Given the description of an element on the screen output the (x, y) to click on. 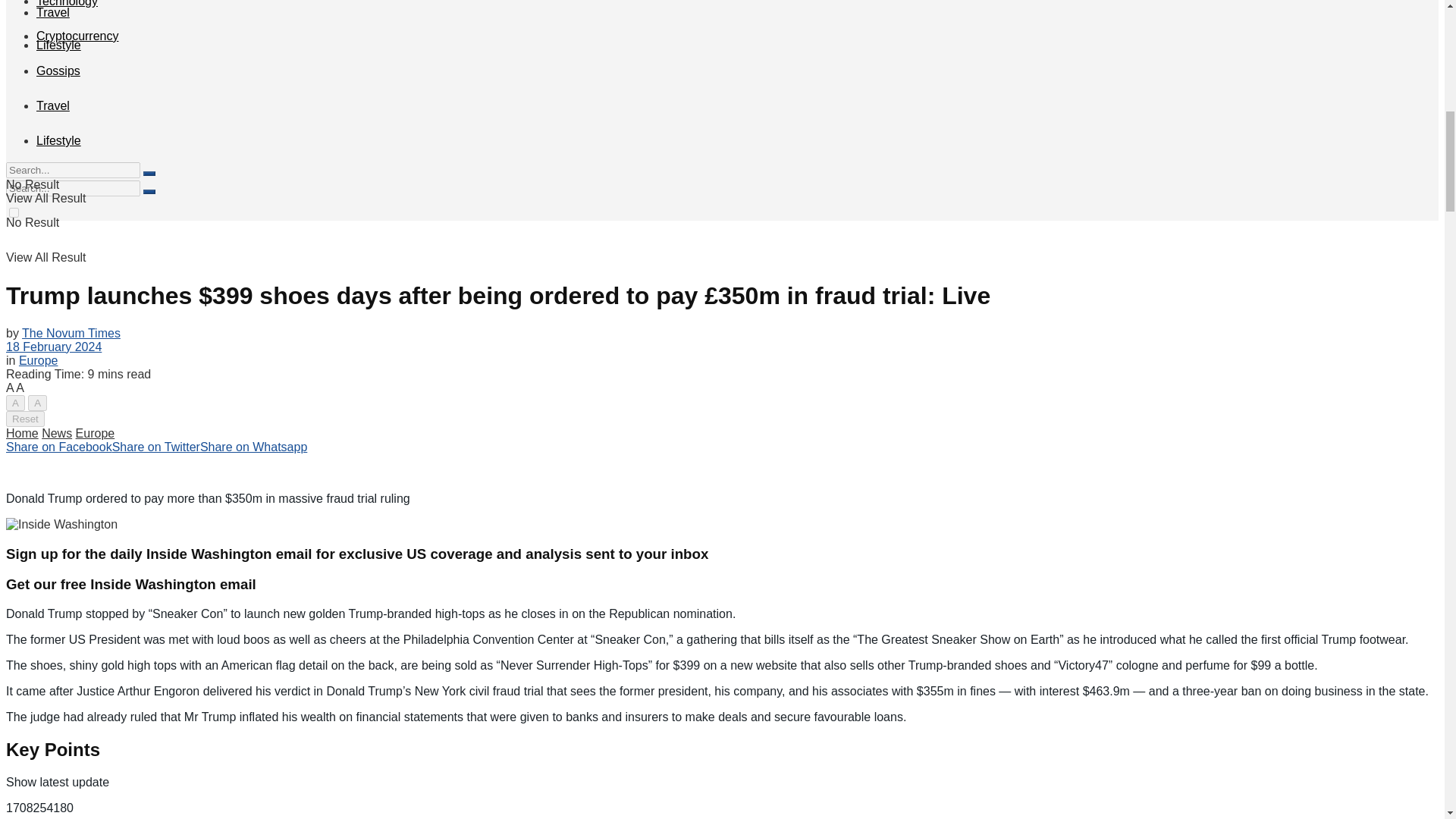
Travel (52, 11)
on (13, 212)
Lifestyle (58, 44)
